Given the description of an element on the screen output the (x, y) to click on. 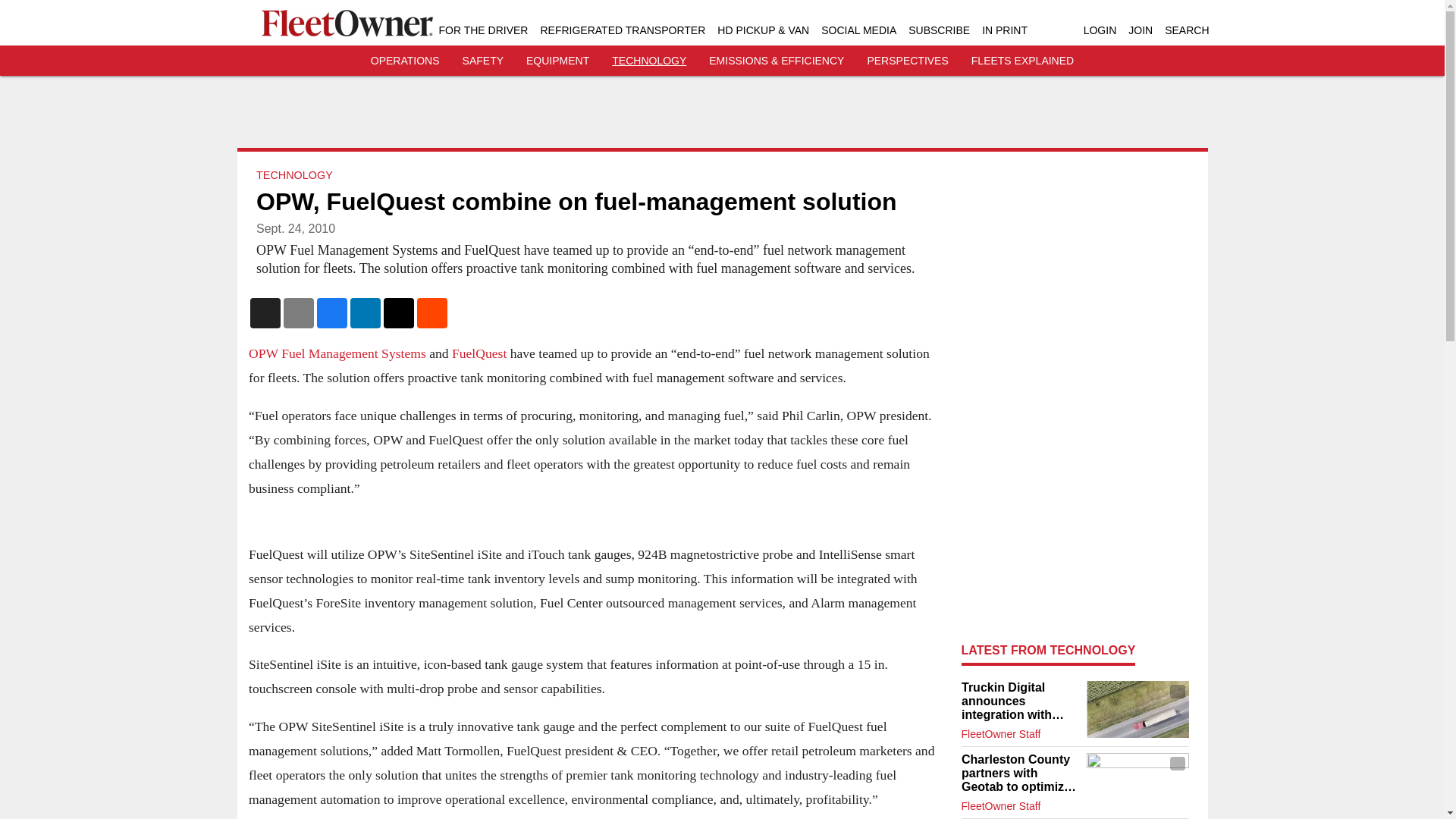
TECHNOLOGY (648, 60)
SEARCH (1186, 30)
SOCIAL MEDIA (858, 30)
LOGIN (1099, 30)
EQUIPMENT (557, 60)
OPERATIONS (405, 60)
FLEETS EXPLAINED (1022, 60)
REFRIGERATED TRANSPORTER (622, 30)
JOIN (1140, 30)
SAFETY (483, 60)
FOR THE DRIVER (482, 30)
SUBSCRIBE (938, 30)
IN PRINT (1004, 30)
PERSPECTIVES (906, 60)
